Given the description of an element on the screen output the (x, y) to click on. 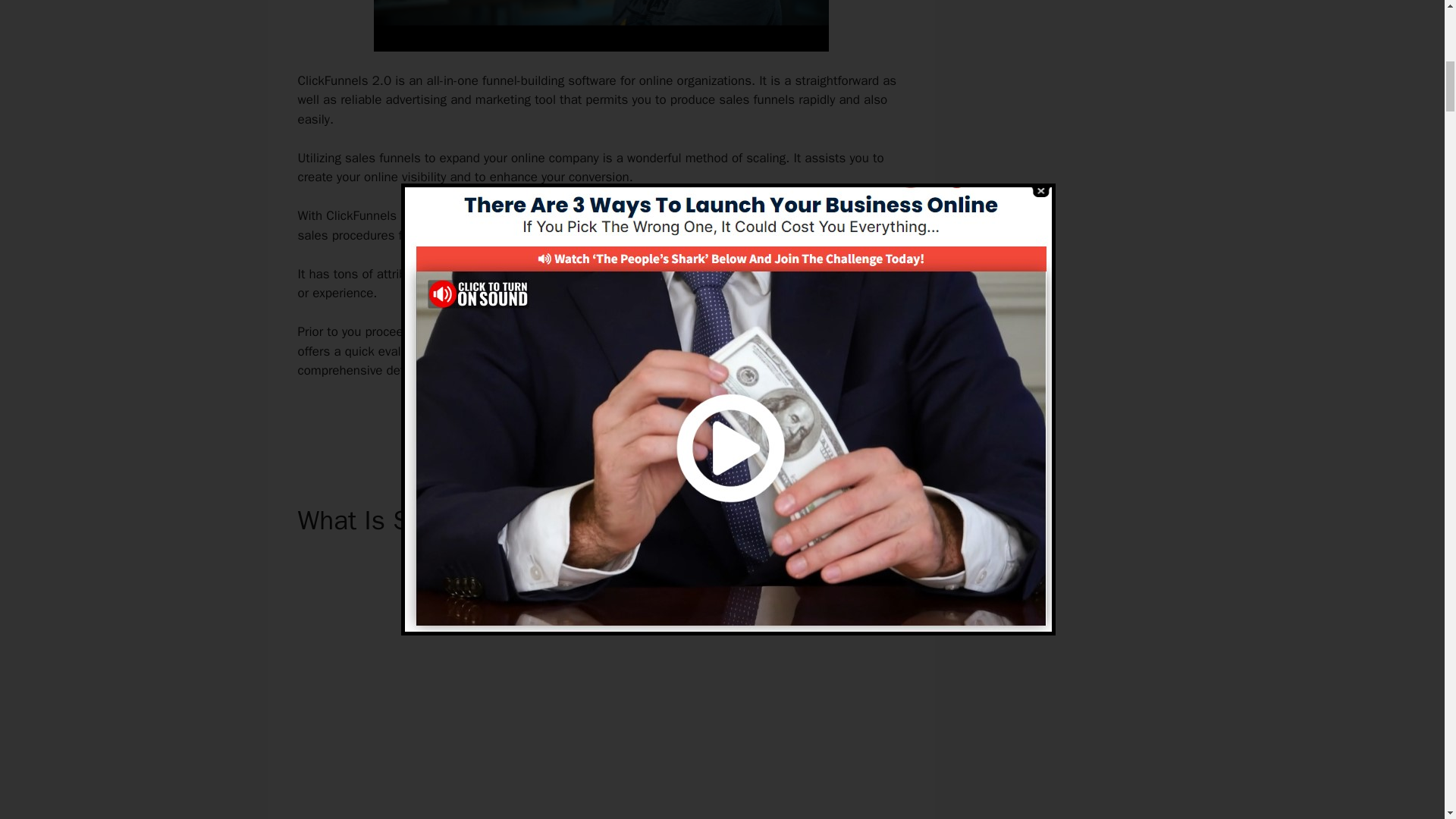
Find Out More On ClickFunnels 2.0 (600, 422)
